Given the description of an element on the screen output the (x, y) to click on. 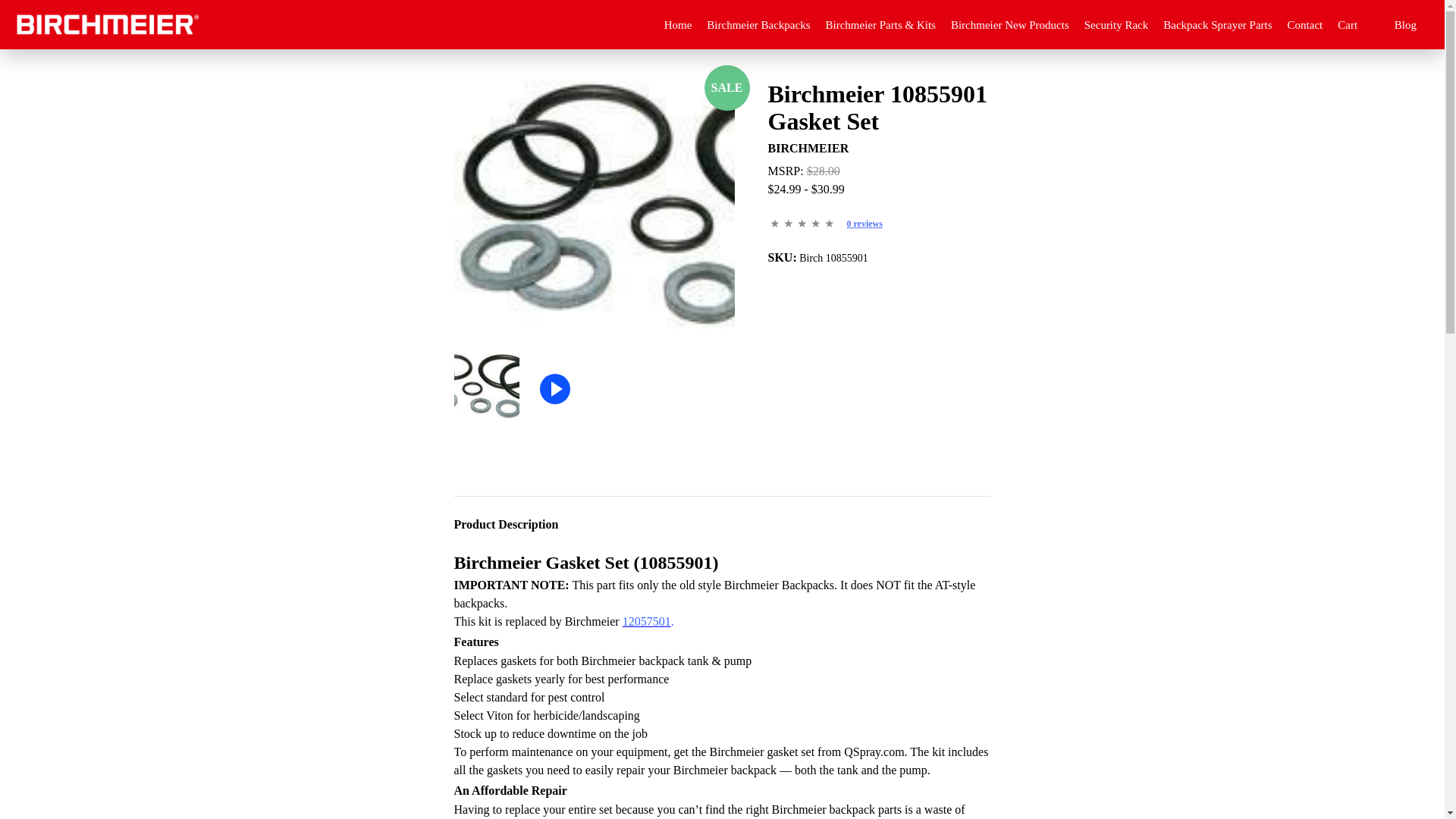
Birchmeier New Products (1009, 24)
0 reviews (863, 223)
Cart (1358, 24)
Security Rack (1116, 24)
Contact (1305, 24)
Search (741, 90)
Birchmeier Backpacks (757, 24)
Backpack Sprayer Parts (1217, 24)
12057501 (647, 621)
Blog (1405, 24)
Home (678, 24)
